Given the description of an element on the screen output the (x, y) to click on. 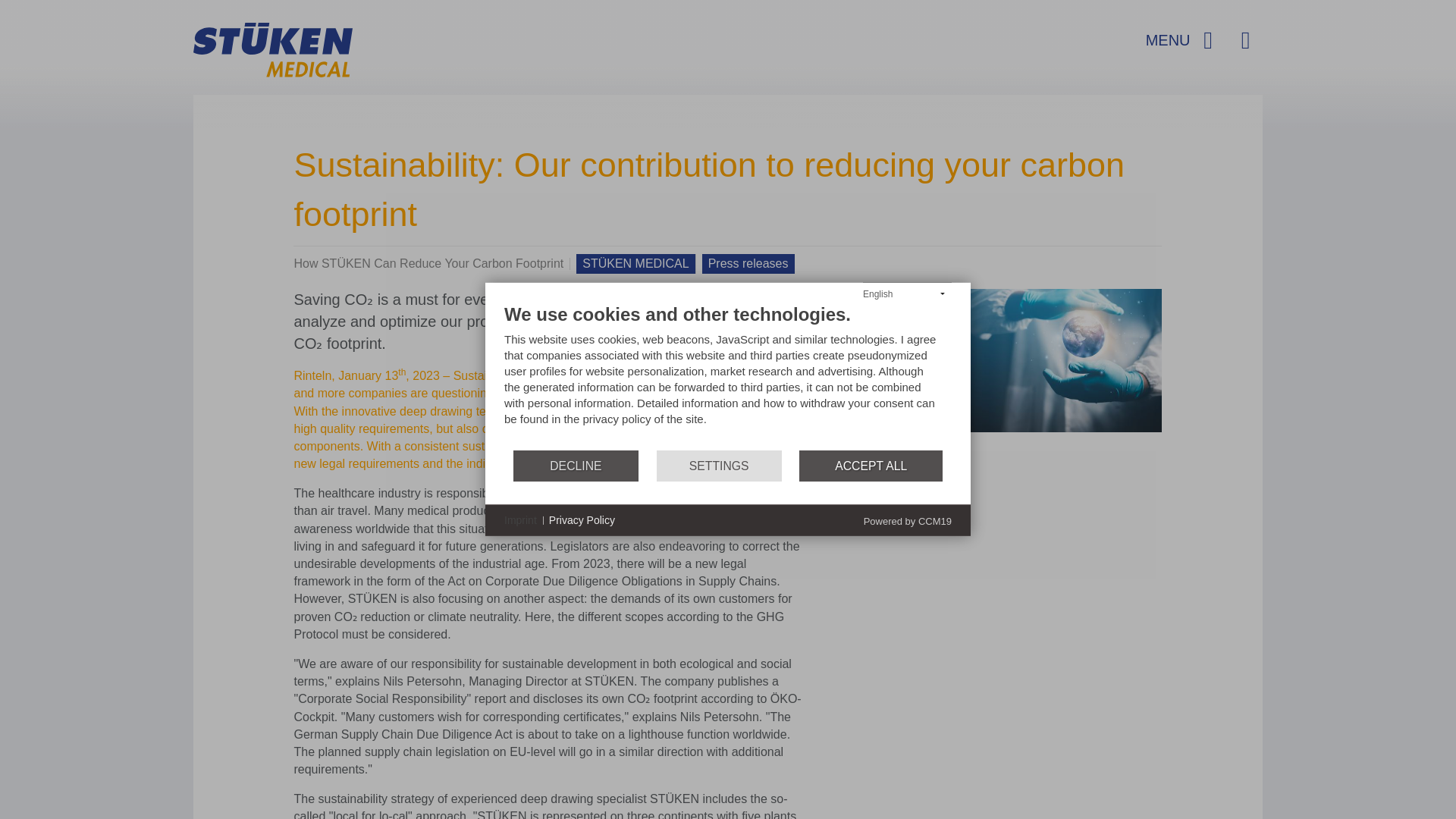
ACCEPT ALL (870, 465)
Imprint (520, 520)
Privacy Policy (581, 520)
Powered by CCM19 (907, 521)
SETTINGS (718, 465)
DECLINE (576, 465)
